Given the description of an element on the screen output the (x, y) to click on. 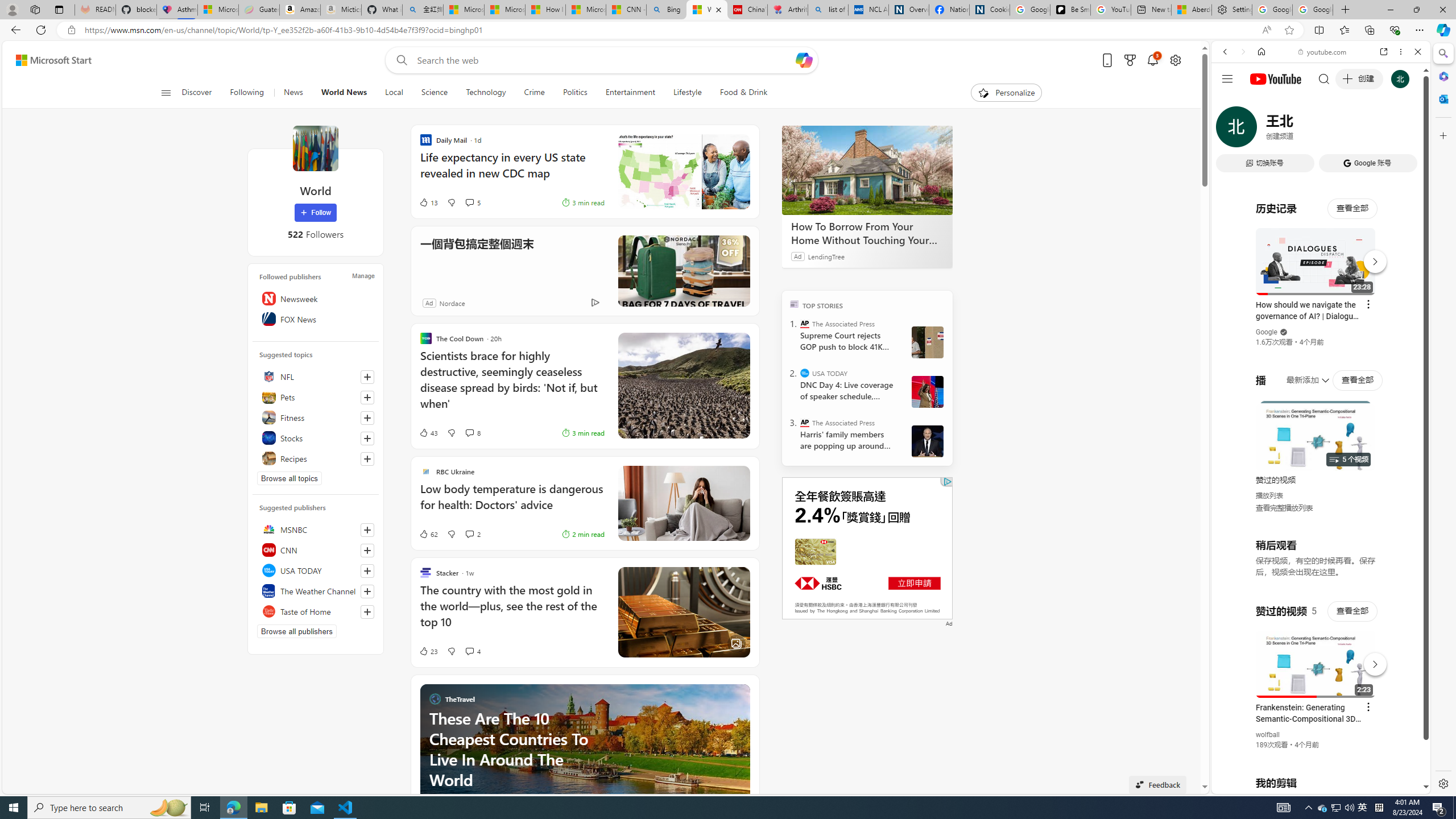
Entertainment (630, 92)
CNN (315, 549)
VIDEOS (1300, 130)
IMAGES (1262, 130)
Food & Drink (738, 92)
Browse all topics (289, 477)
Music (1320, 309)
